Given the description of an element on the screen output the (x, y) to click on. 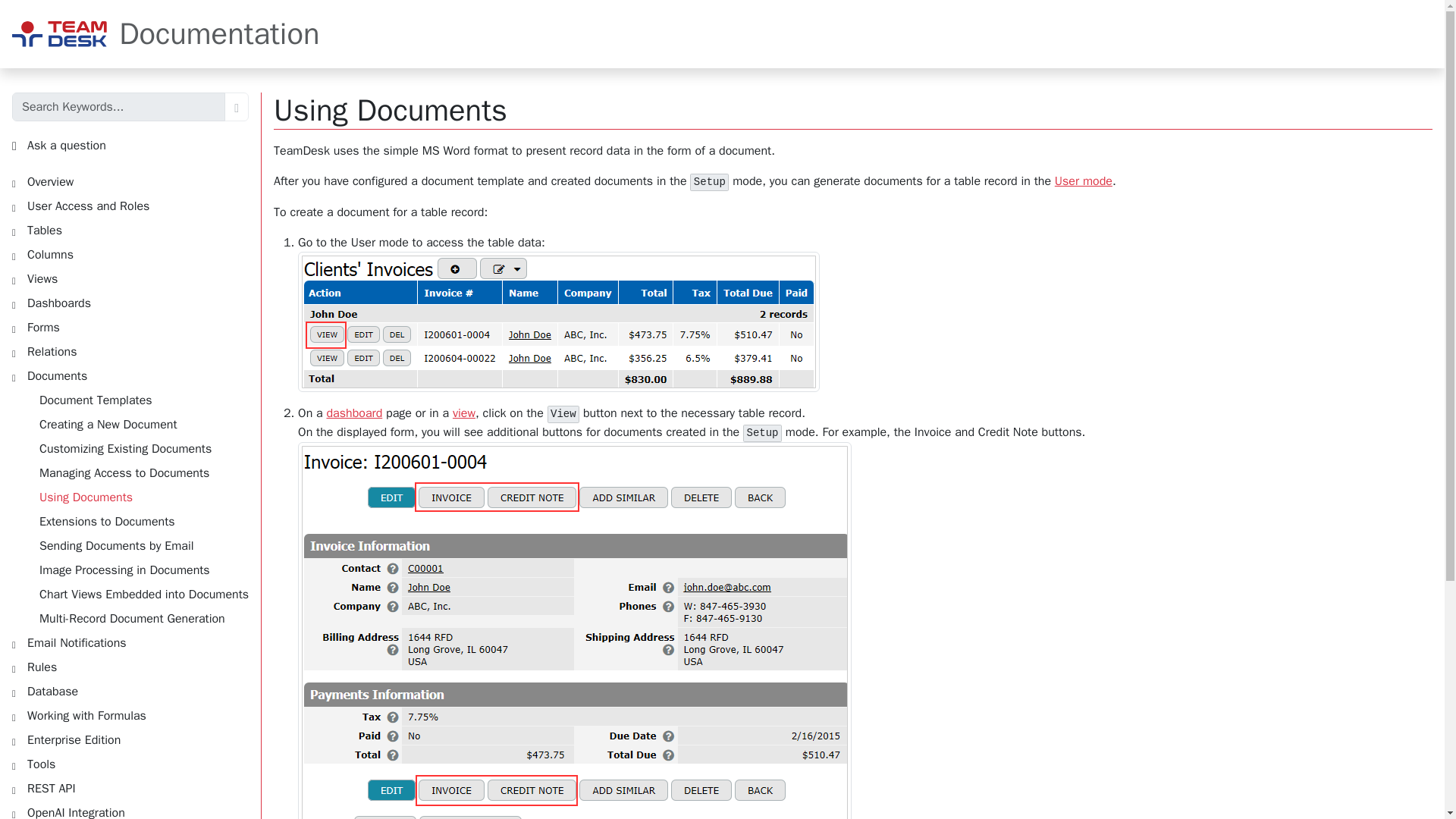
Document Templates (136, 400)
Creating a New Document (136, 424)
Working with Formulas (129, 715)
Using Documents (136, 497)
Tables (129, 230)
Columns (129, 254)
Database (129, 691)
Enterprise Edition (129, 740)
Sending Documents by Email (136, 545)
Managing Access to Documents (136, 473)
Relations (129, 351)
Rules (129, 667)
Tools (129, 764)
Documentation (165, 34)
Extensions to Documents (136, 521)
